Given the description of an element on the screen output the (x, y) to click on. 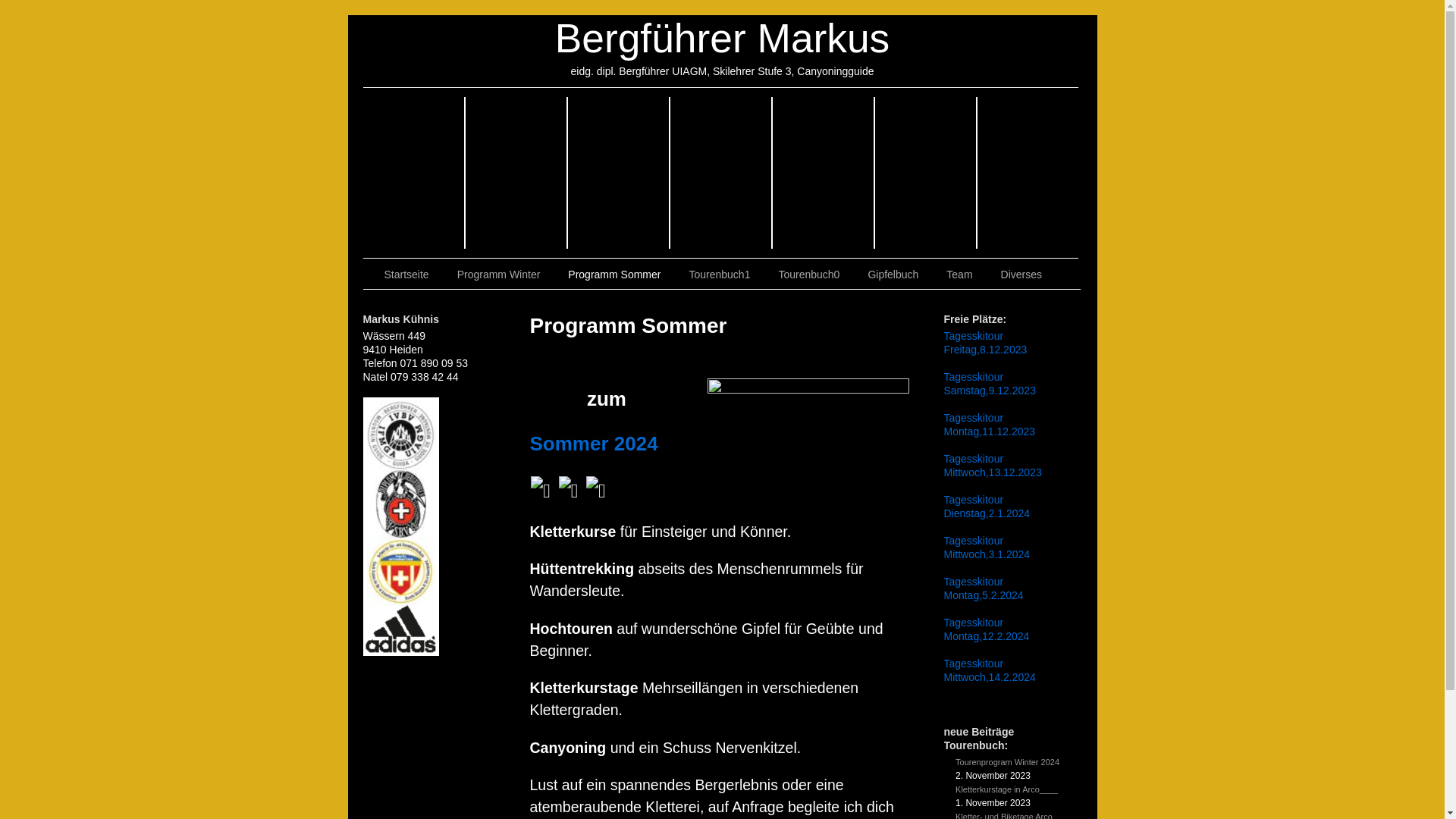
02 Element type: text (413, 172)
01 Element type: text (822, 172)
Tagesskitour Mittwoch,14.2.2024 Element type: text (989, 670)
Kletterkurstage in Arco____ Element type: text (1006, 788)
Diverses Element type: text (1022, 274)
Team Element type: text (961, 274)
Gipfelbuch Element type: text (894, 274)
Sommer 2024 Element type: text (593, 443)
Tourenprogram Winter 2024 Element type: text (1007, 761)
04 Element type: text (721, 172)
Startseite Element type: text (407, 274)
06 Element type: text (1026, 172)
Tourenbuch0 Element type: text (810, 274)
Tagesskitour Mittwoch,13.12.2023 Element type: text (992, 465)
Tagesskitour Montag,11.12.2023 Element type: text (989, 424)
Tagesskitour Mittwoch,3.1.2024 Element type: text (986, 547)
Tagesskitour Montag,12.2.2024 Element type: text (986, 629)
Tagesskitour Dienstag,2.1.2024 Element type: text (986, 506)
Tourenbuch1 Element type: text (720, 274)
03 Element type: text (516, 172)
05 Element type: text (926, 172)
07 Element type: text (618, 172)
Programm Sommer Element type: text (615, 274)
Programm Winter Element type: text (500, 274)
Tagesskitour Samstag,9.12.2023 Element type: text (989, 383)
Tagesskitour Freitag,8.12.2023 Element type: text (984, 342)
Tagesskitour Montag,5.2.2024 Element type: text (982, 588)
